Given the description of an element on the screen output the (x, y) to click on. 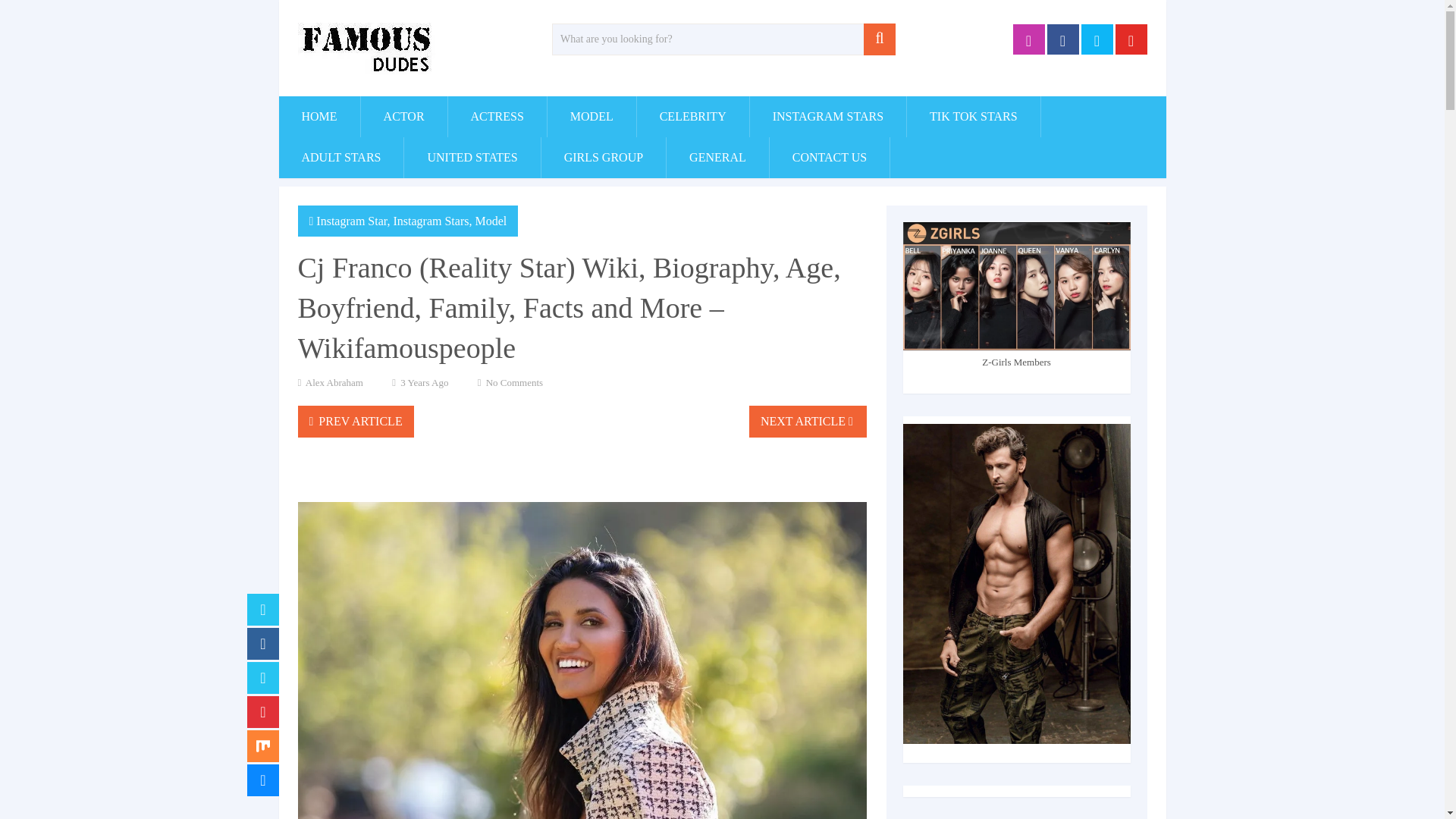
View all posts in Instagram Star (351, 220)
Alex Abraham (333, 382)
Instagram Star (351, 220)
Model (490, 220)
ACTOR (403, 116)
PREV ARTICLE (355, 421)
INSTAGRAM STARS (827, 116)
CONTACT US (829, 157)
TIK TOK STARS (973, 116)
GENERAL (717, 157)
UNITED STATES (472, 157)
View all posts in Model (490, 220)
View all posts in Instagram Stars (430, 220)
Posts by Alex Abraham (333, 382)
ACTRESS (497, 116)
